Given the description of an element on the screen output the (x, y) to click on. 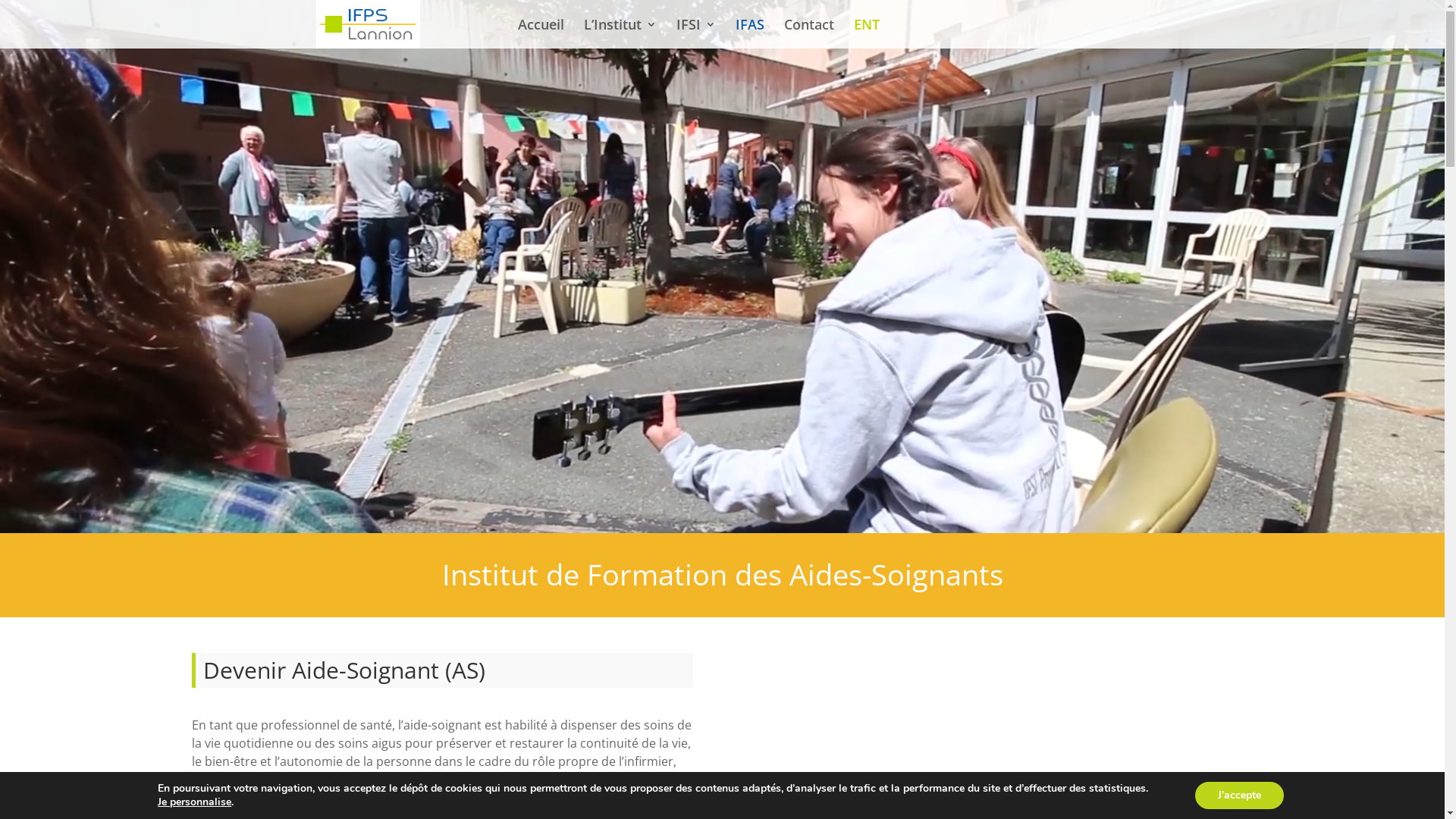
Accueil Element type: text (540, 33)
Je personnalise Element type: text (194, 802)
ENT Element type: text (866, 33)
Contact Element type: text (809, 33)
IFSI Element type: text (695, 33)
IFAS Element type: text (749, 33)
